Given the description of an element on the screen output the (x, y) to click on. 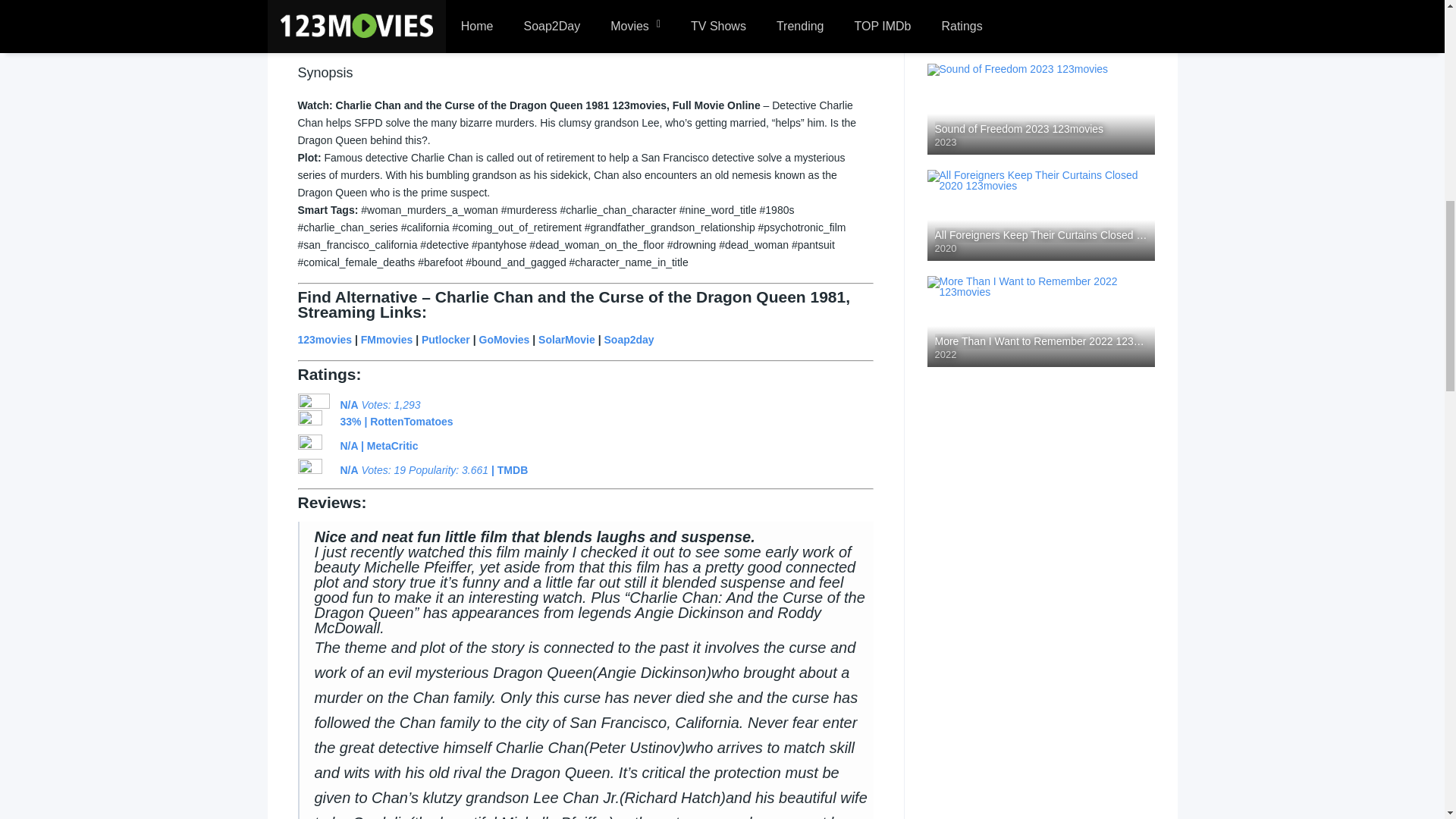
Cast (360, 18)
123movies (324, 339)
Info (310, 18)
